Given the description of an element on the screen output the (x, y) to click on. 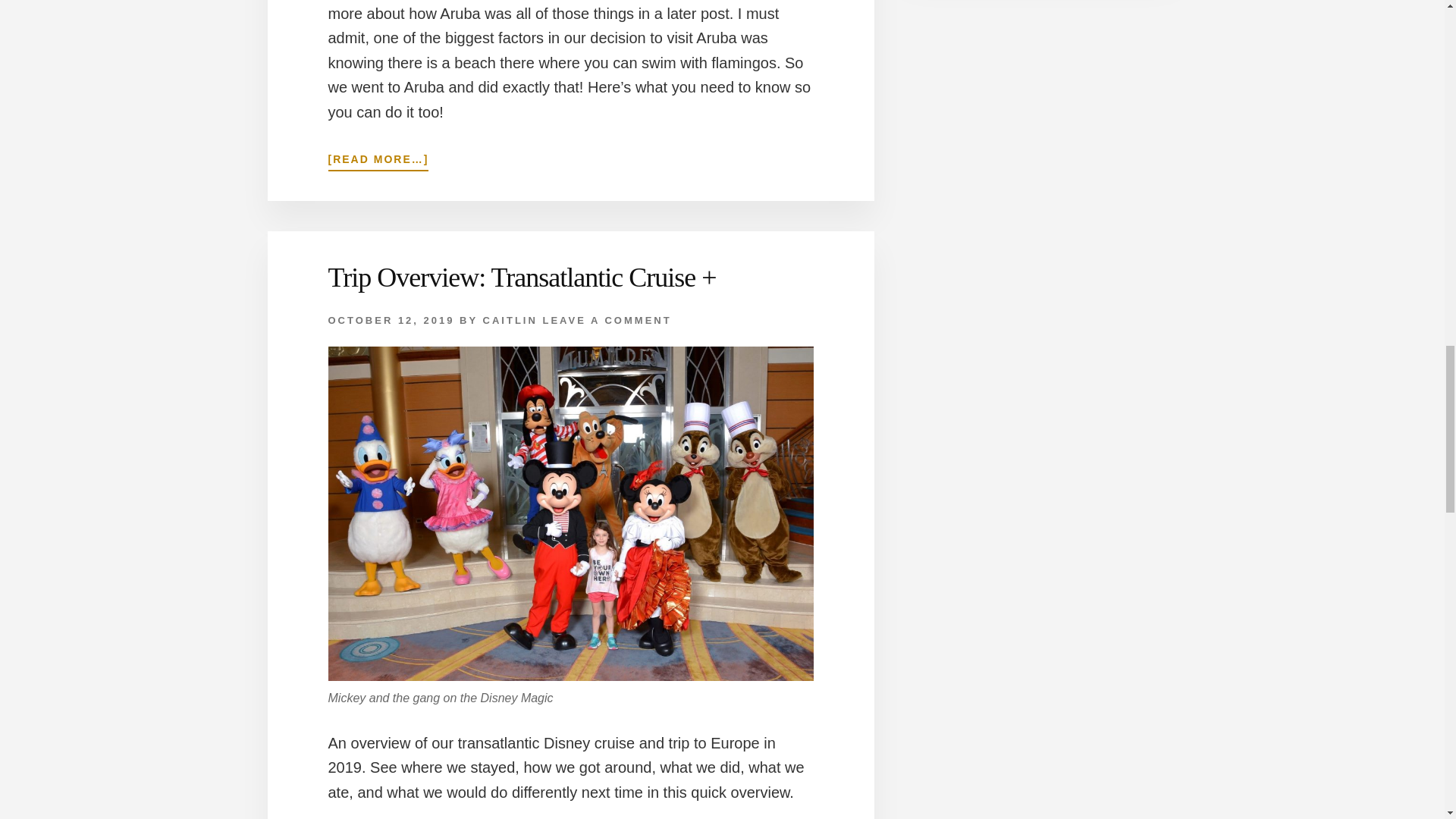
CAITLIN (510, 319)
LEAVE A COMMENT (606, 319)
